Given the description of an element on the screen output the (x, y) to click on. 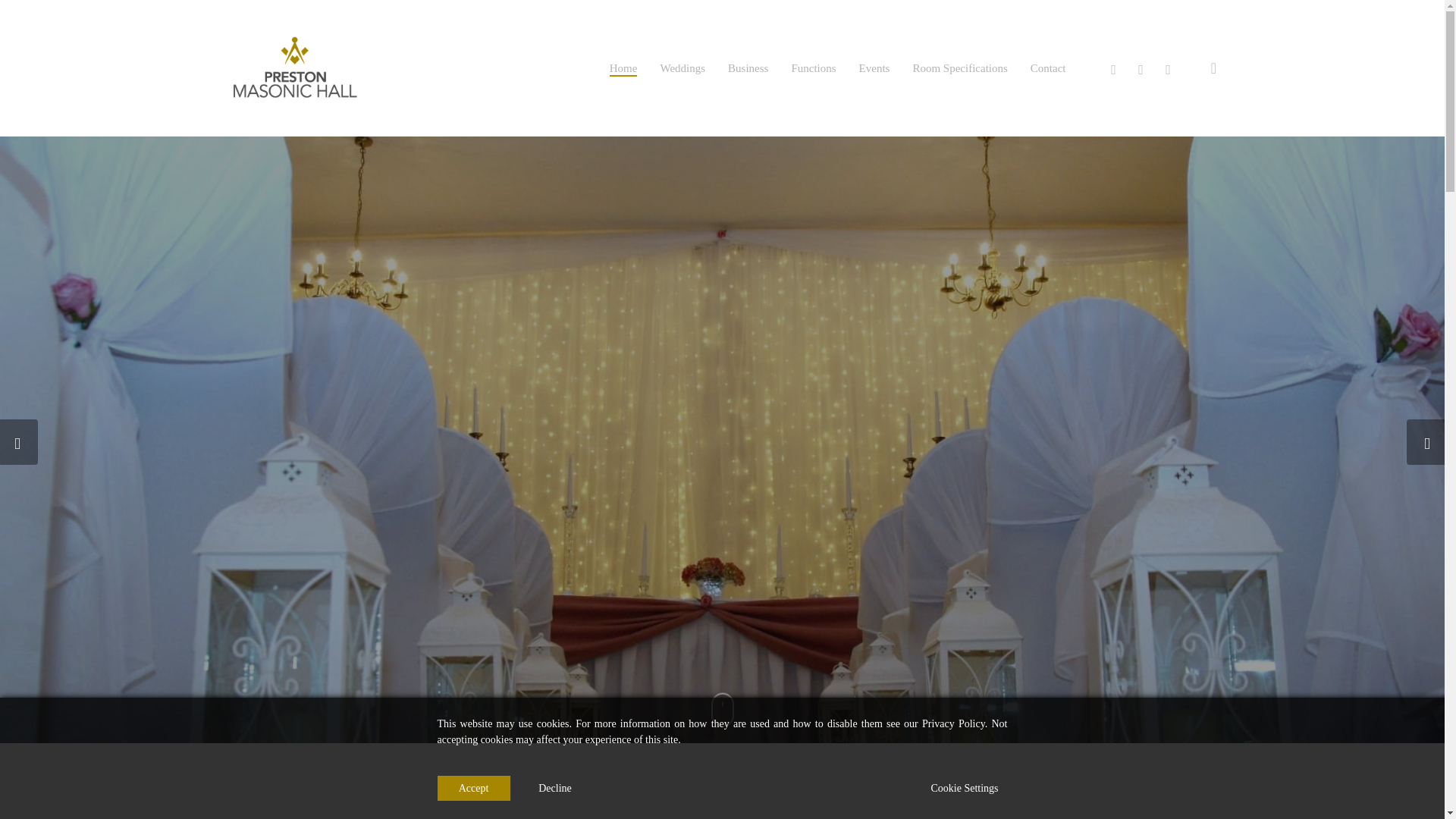
Google-Plus (1167, 67)
Weddings (681, 68)
Events (874, 68)
Home (623, 68)
Business (748, 68)
Room Specifications (959, 68)
search (1213, 68)
Facebook (1112, 67)
Contact (1047, 68)
Vimeo (1140, 67)
